Given the description of an element on the screen output the (x, y) to click on. 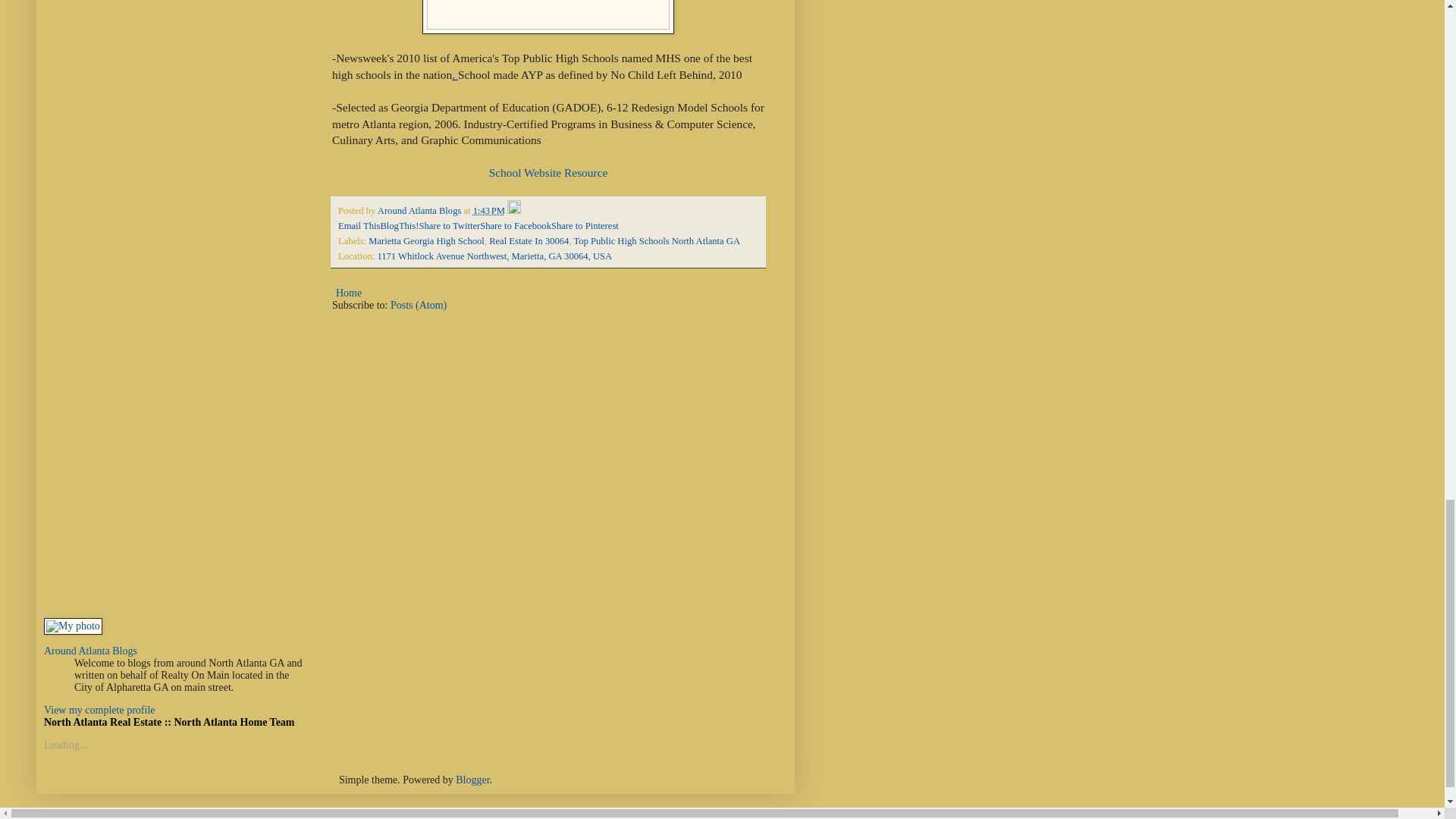
BlogThis! (399, 225)
Loading... (65, 745)
BlogThis! (399, 225)
Blogger (472, 779)
Marietta Georgia High School (426, 240)
Share to Pinterest (584, 225)
View my complete profile (99, 709)
Top Public High Schools North Atlanta GA (656, 240)
Around Atlanta Blogs (420, 210)
permanent link (489, 210)
Email This (358, 225)
Edit Post (513, 210)
Share to Twitter (449, 225)
Share to Facebook (515, 225)
1171 Whitlock Avenue Northwest, Marietta, GA 30064, USA (494, 255)
